Given the description of an element on the screen output the (x, y) to click on. 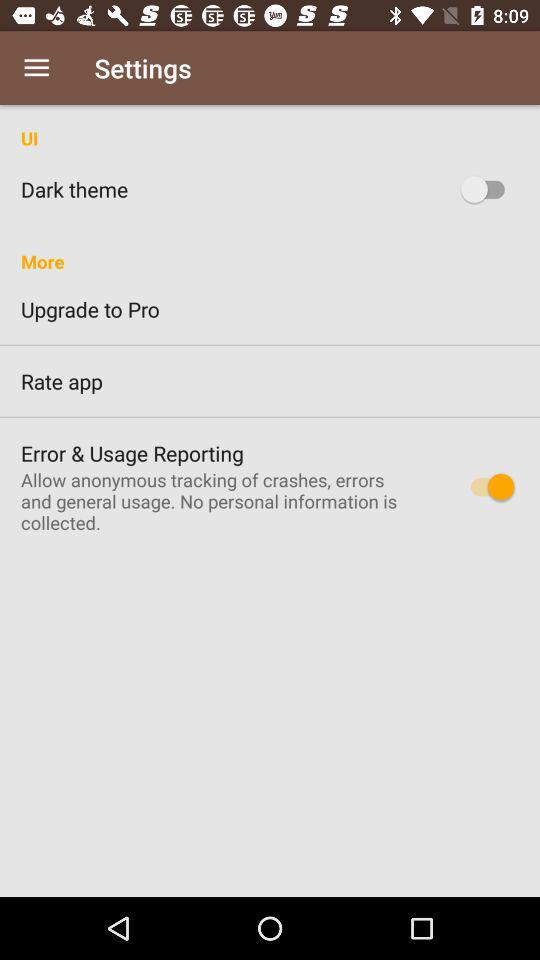
press the icon below more (270, 309)
